Given the description of an element on the screen output the (x, y) to click on. 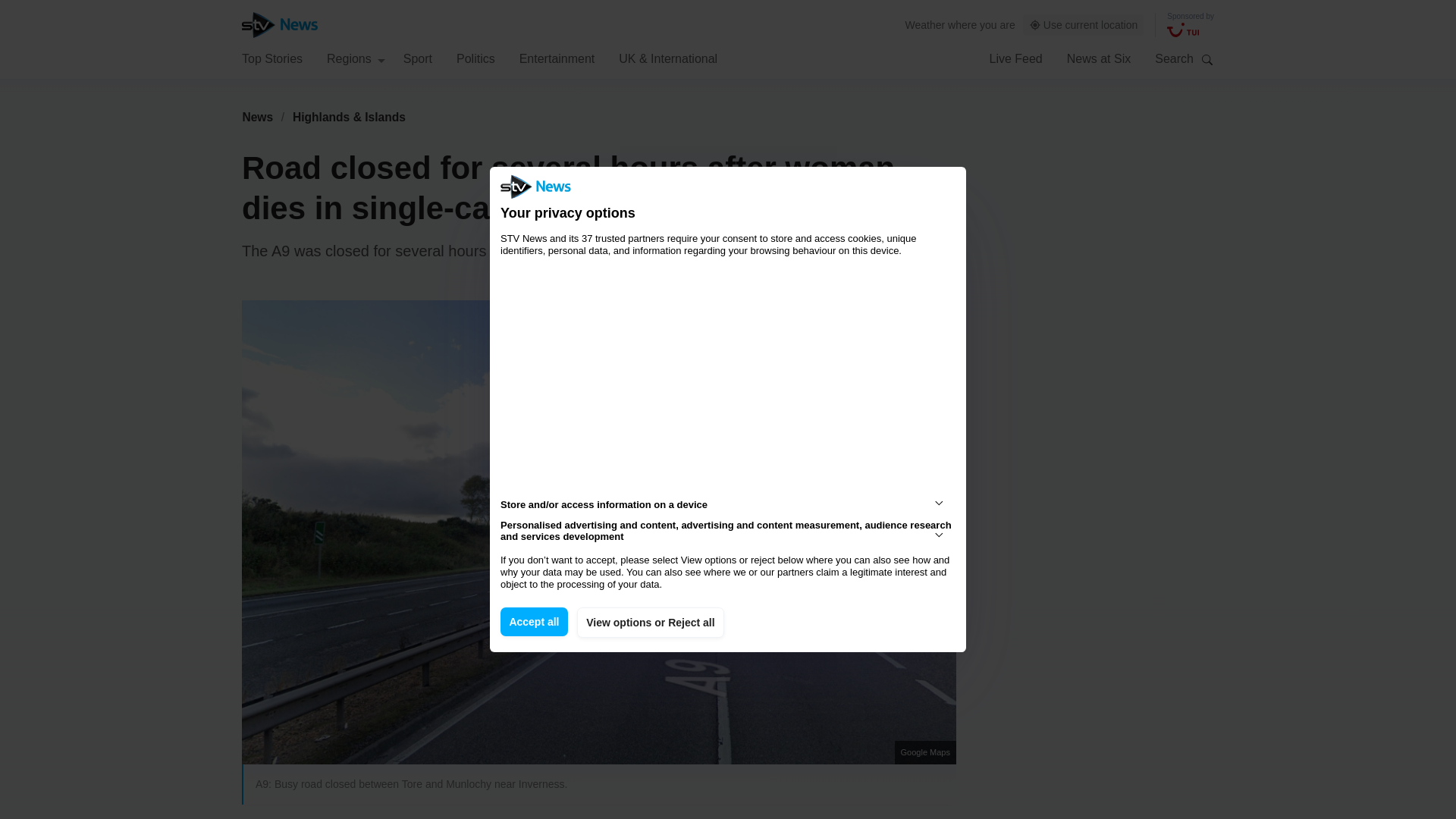
News at Six (1099, 57)
Weather (924, 24)
Search (1206, 59)
Entertainment (557, 57)
Live Feed (1015, 57)
Use current location (1083, 25)
Politics (476, 57)
Regions (355, 57)
News (257, 116)
Top Stories (271, 57)
